Given the description of an element on the screen output the (x, y) to click on. 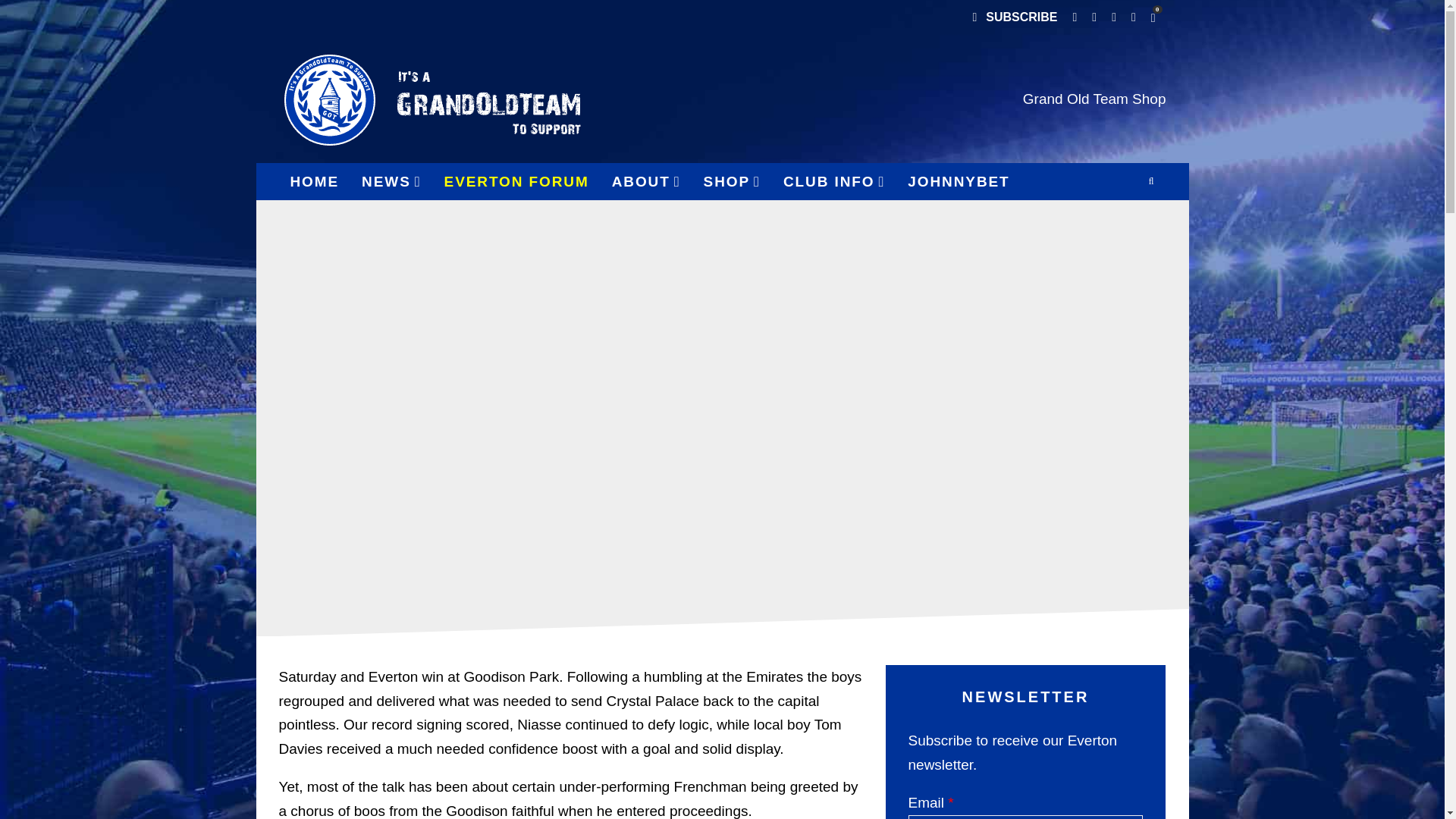
HOME (314, 181)
About (646, 181)
SHOP (732, 181)
EVERTON FORUM (515, 181)
Grand Old Team Shop (1094, 98)
NEWS (391, 181)
CLUB INFO (833, 181)
SUBSCRIBE (1013, 18)
ABOUT (646, 181)
